Given the description of an element on the screen output the (x, y) to click on. 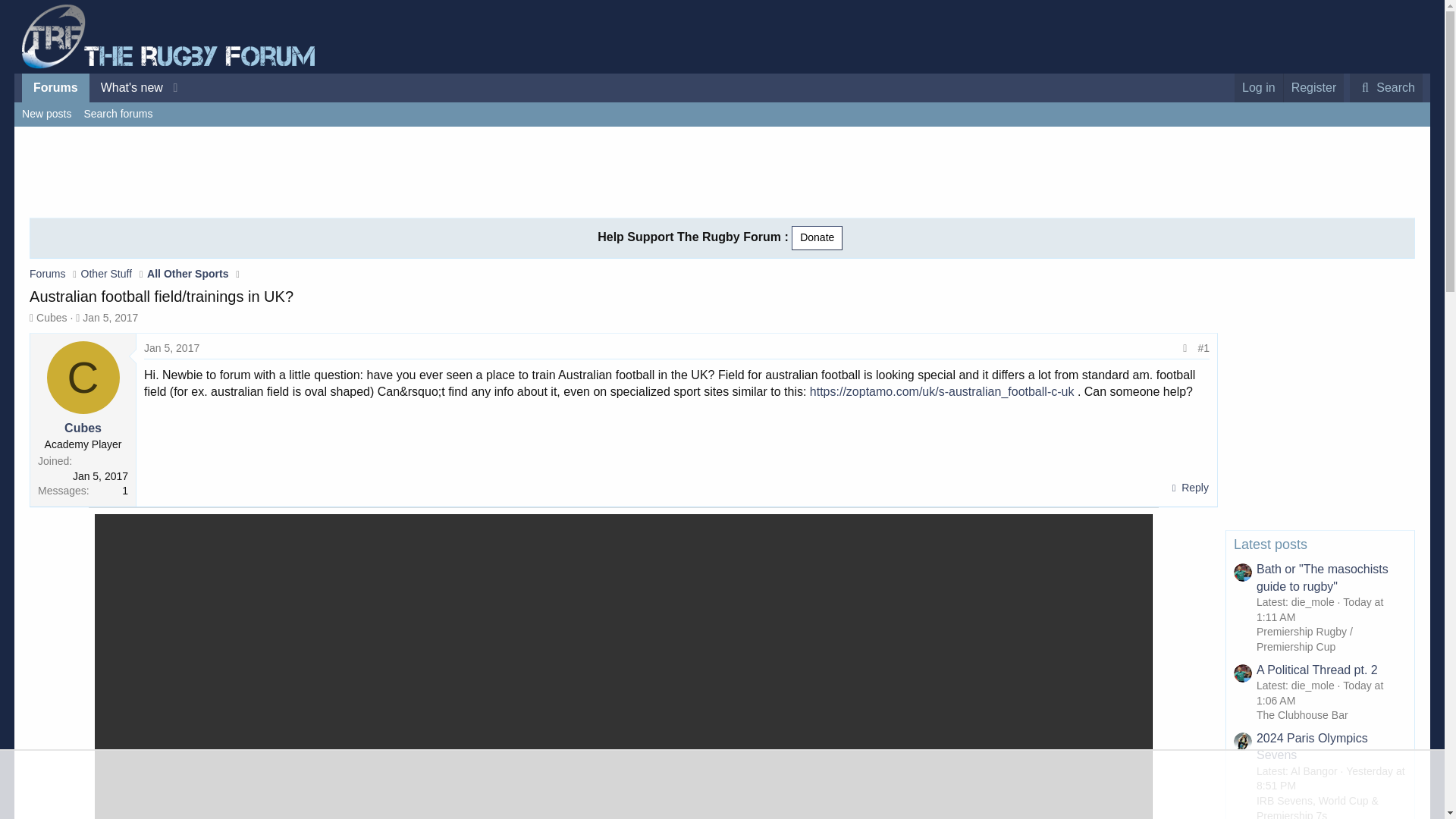
Register (1312, 87)
Log in (1258, 87)
Donate (817, 238)
Other Stuff (106, 273)
Search (1385, 87)
Donate (817, 238)
What's new (126, 87)
Forums (54, 87)
All Other Sports (187, 273)
Cubes (103, 87)
Forums (82, 427)
Jan 5, 2017 at 11:26 AM (103, 104)
